Given the description of an element on the screen output the (x, y) to click on. 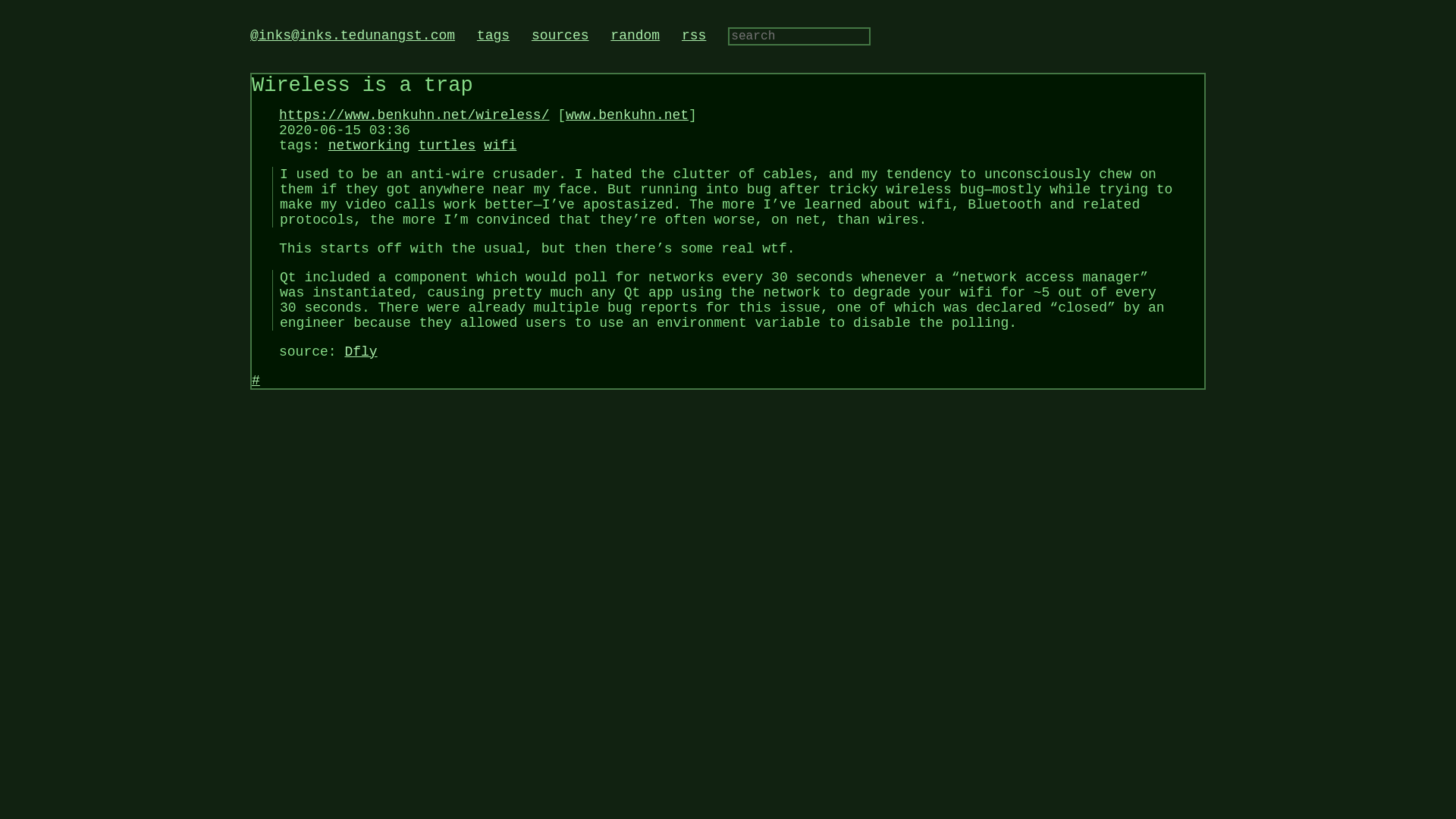
networking (369, 145)
sources (560, 35)
random (634, 35)
wifi (499, 145)
turtles (447, 145)
www.benkuhn.net (627, 114)
follow via activitypub (352, 35)
rss (693, 35)
Dfly (360, 351)
tags (493, 35)
